Given the description of an element on the screen output the (x, y) to click on. 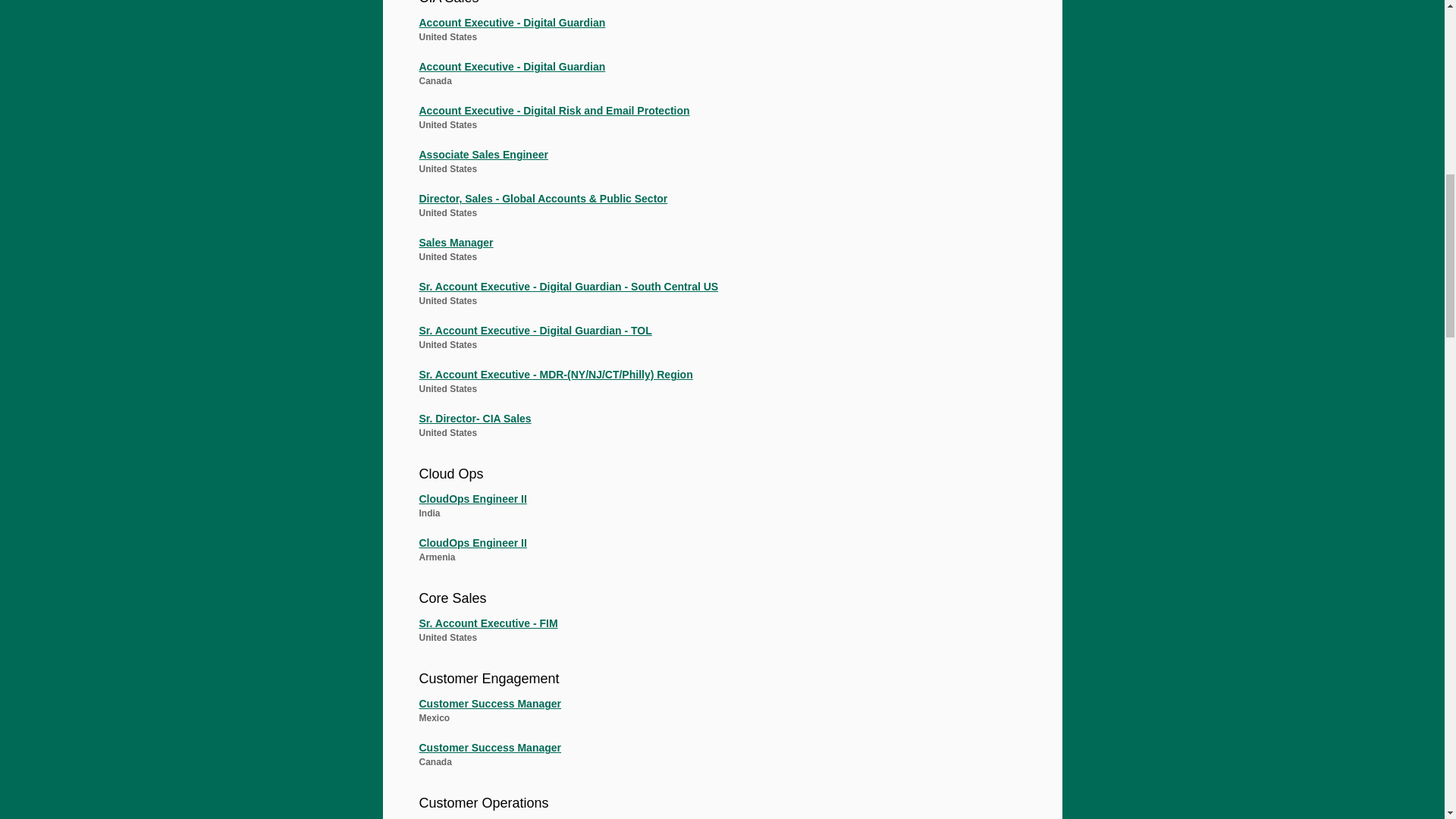
Sr. Account Executive - Digital Guardian - TOL (714, 334)
Sr. Director- CIA Sales (714, 423)
Sales Manager (714, 247)
Sr. Account Executive - FIM (714, 627)
Sr. Account Executive - Digital Guardian - South Central US (714, 291)
Account Executive - Digital Guardian (714, 70)
Account Executive - Digital Guardian (714, 26)
Customer Success Manager (714, 752)
Associate Sales Engineer (714, 159)
CloudOps Engineer II (714, 503)
